Given the description of an element on the screen output the (x, y) to click on. 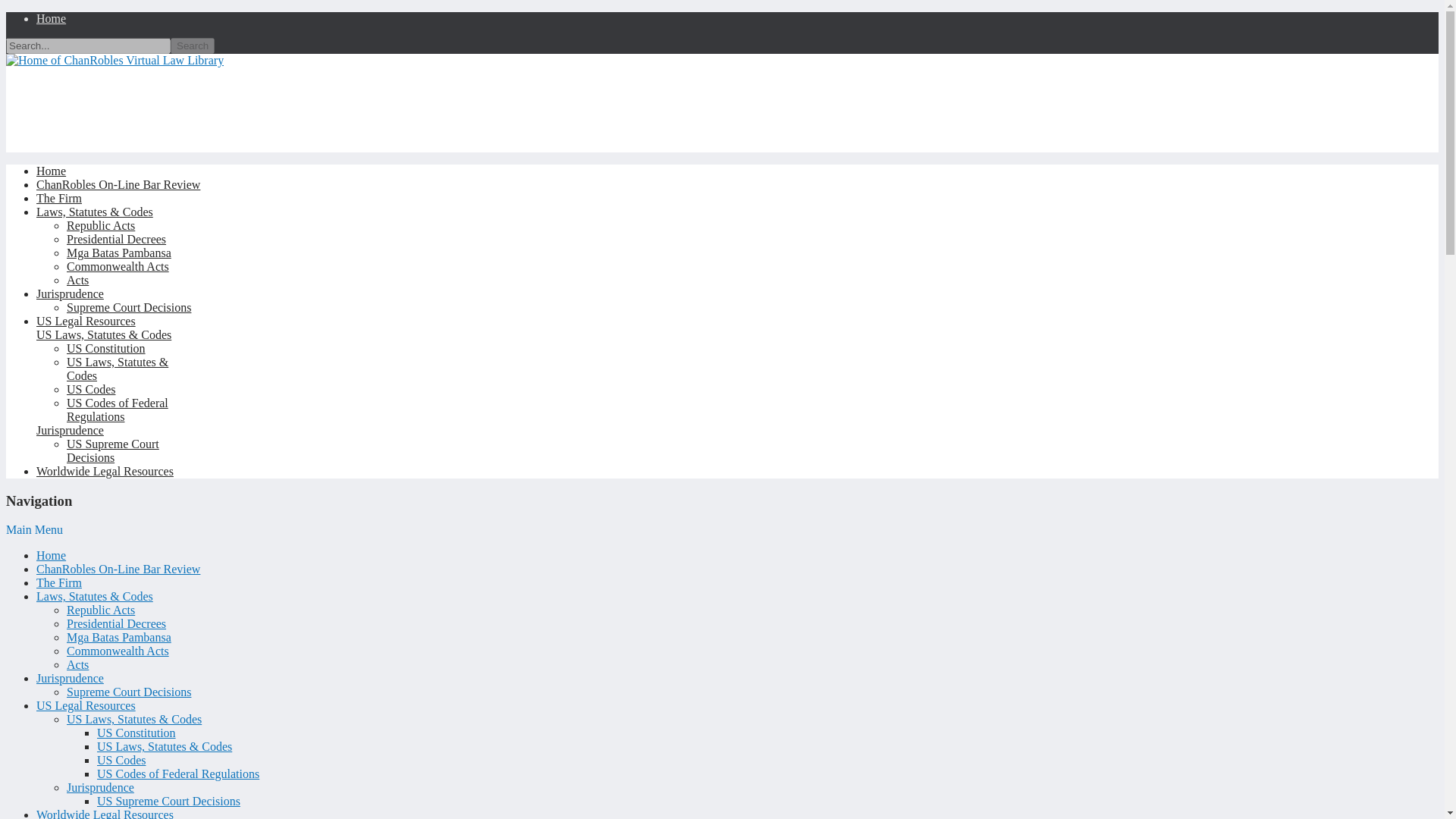
The Firm (58, 582)
Presidential Decrees (115, 238)
Mga Batas Pambansa (118, 636)
Home (50, 18)
Republic Acts (100, 609)
US Codes (90, 389)
Commonwealth Acts (117, 650)
Republic Acts (100, 225)
Jurisprudence (69, 677)
The Firm (58, 197)
